Given the description of an element on the screen output the (x, y) to click on. 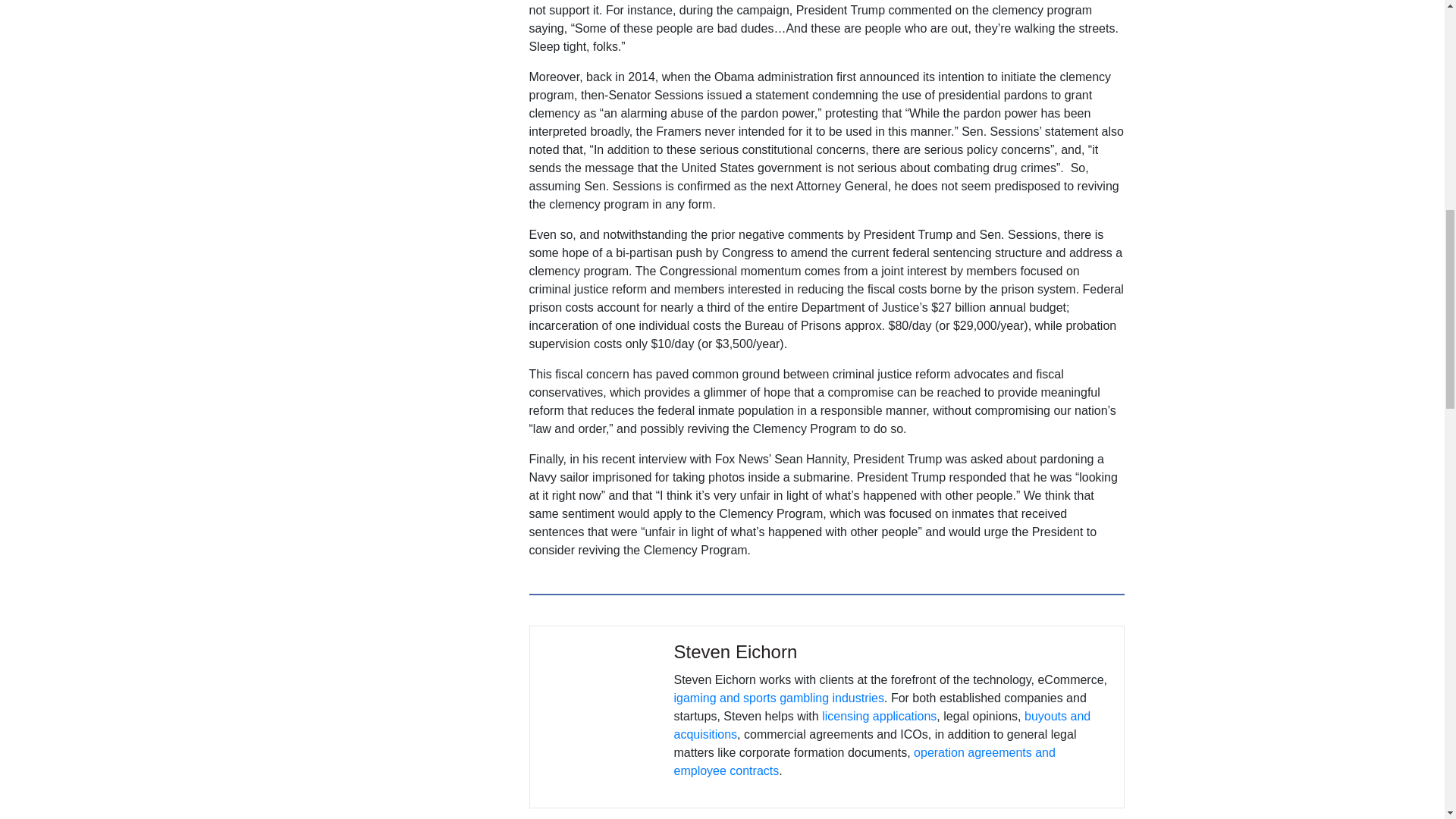
igaming and sports gambling industries (777, 697)
